Given the description of an element on the screen output the (x, y) to click on. 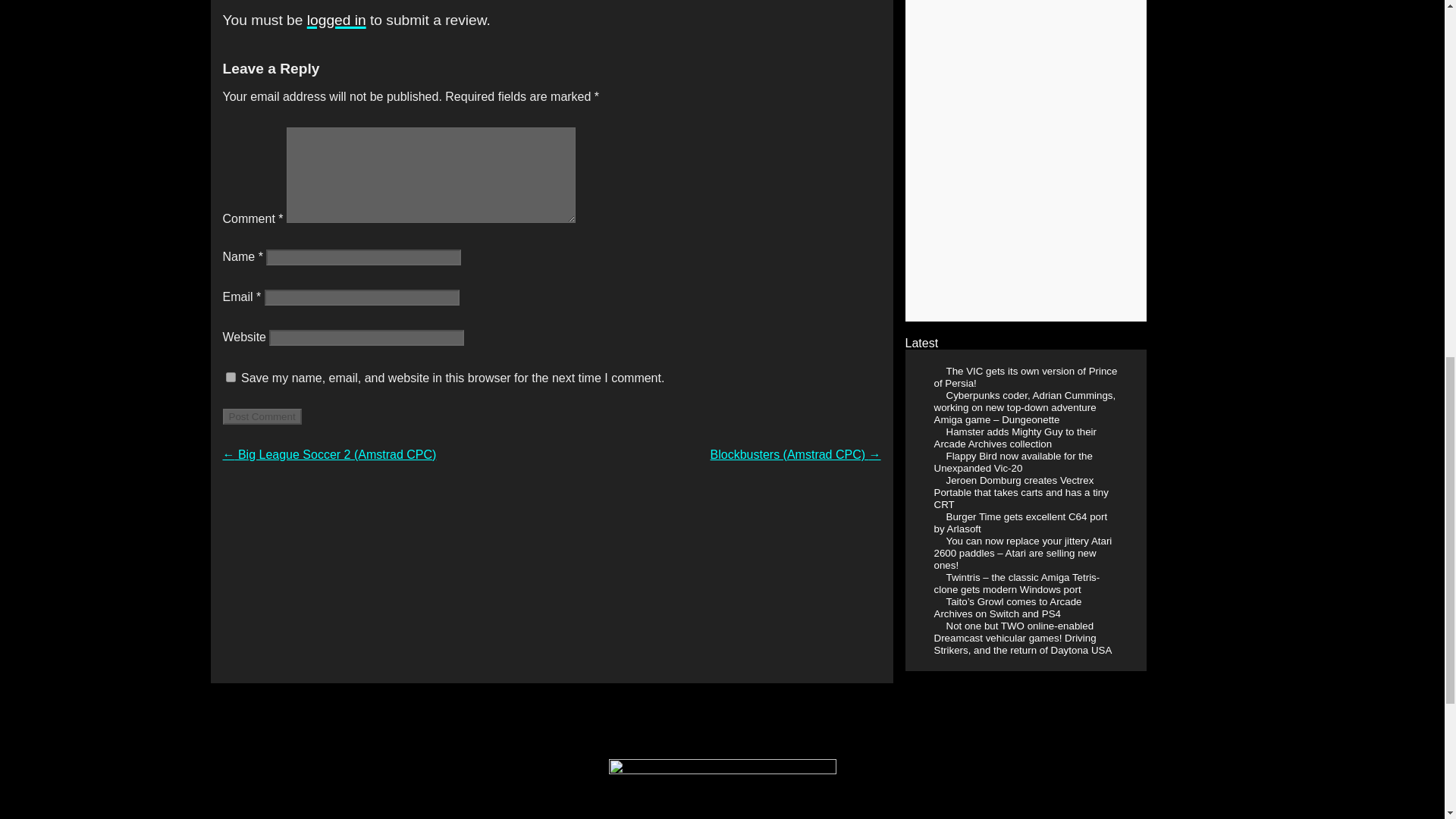
Post Comment (261, 416)
yes (230, 377)
logged in (336, 19)
Post Comment (261, 416)
